Given the description of an element on the screen output the (x, y) to click on. 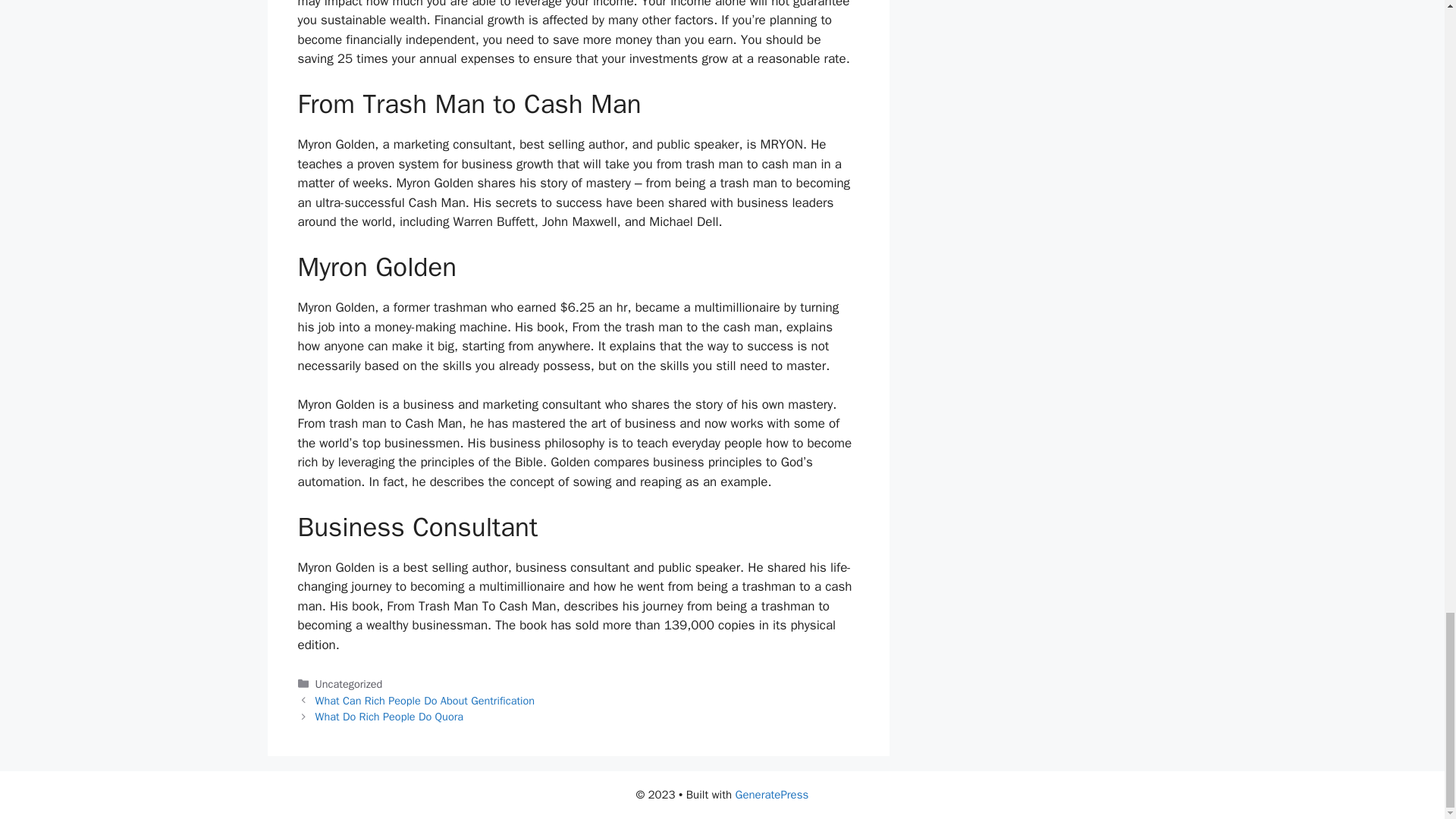
What Can Rich People Do About Gentrification (424, 700)
What Do Rich People Do Quora (389, 716)
GeneratePress (772, 794)
